Given the description of an element on the screen output the (x, y) to click on. 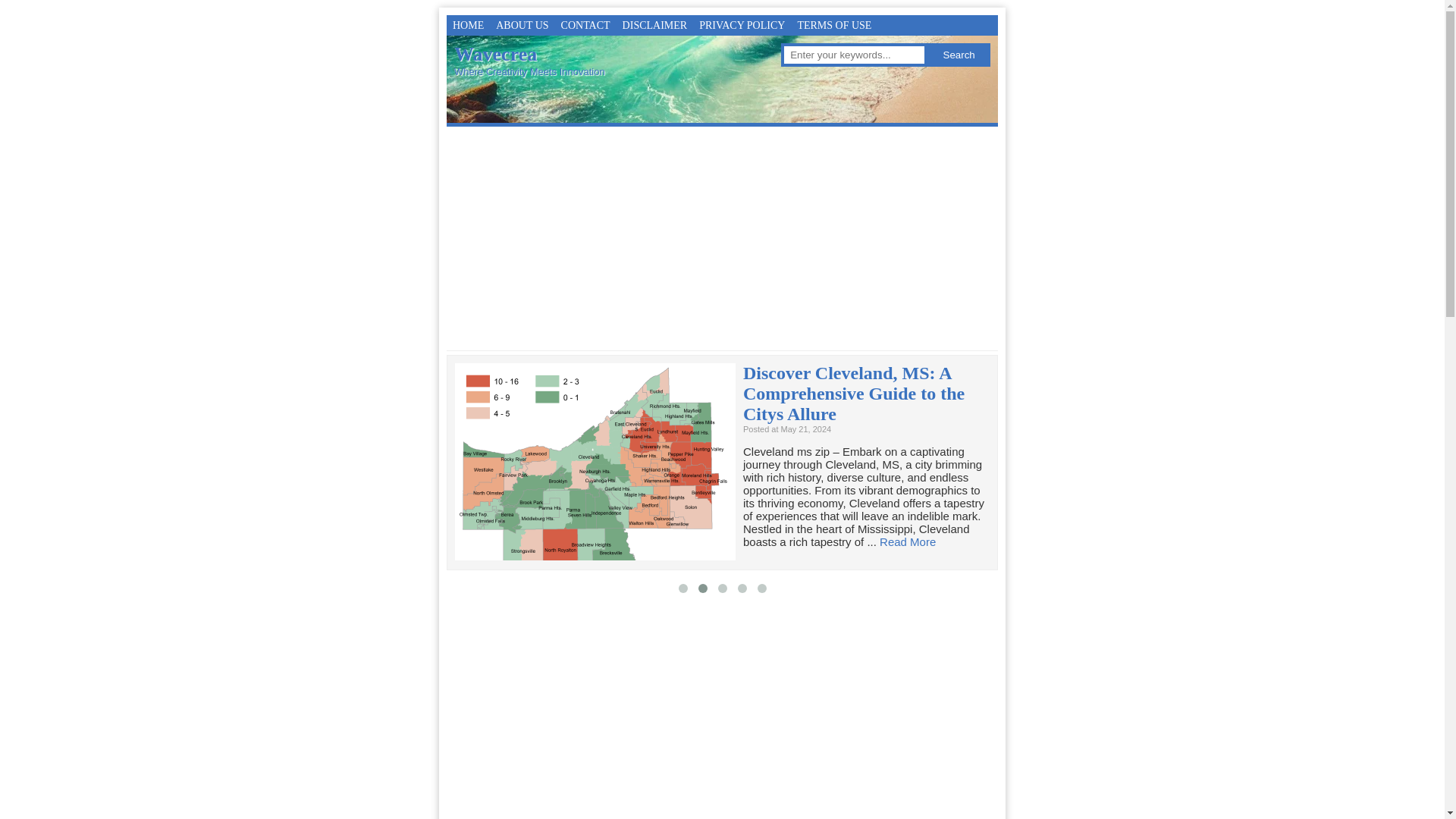
ABOUT US (521, 25)
Wavecrea (495, 54)
HOME (467, 25)
